Given the description of an element on the screen output the (x, y) to click on. 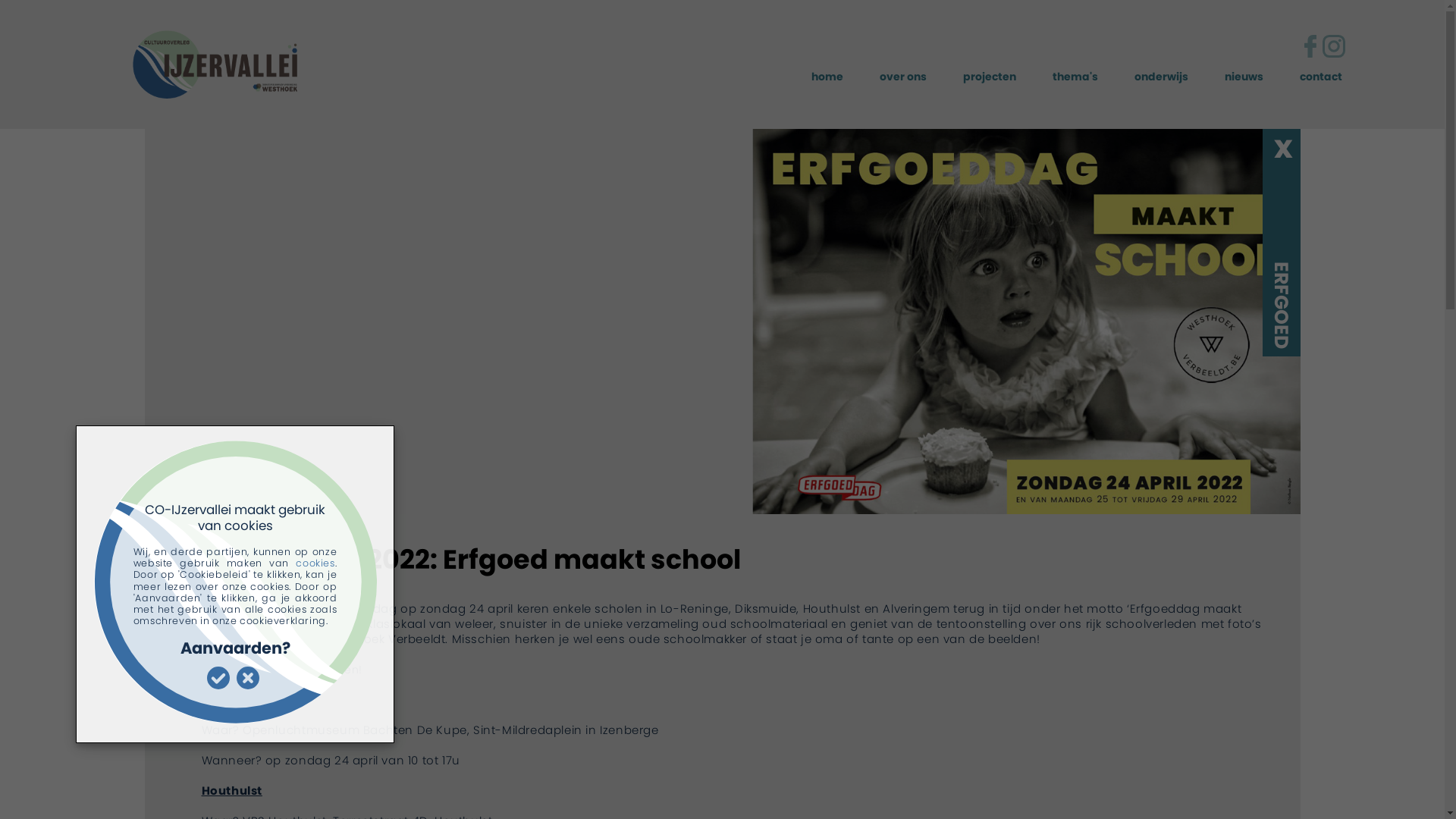
cookies Element type: text (314, 562)
x Element type: text (1283, 146)
nieuws Element type: text (1243, 77)
contact Element type: text (1320, 77)
thema's Element type: text (1075, 77)
projecten Element type: text (989, 77)
Cultuuroverleg IJzervallei Element type: hover (154, 65)
home Element type: text (827, 77)
onderwijs Element type: text (1161, 77)
over ons Element type: text (902, 77)
